Given the description of an element on the screen output the (x, y) to click on. 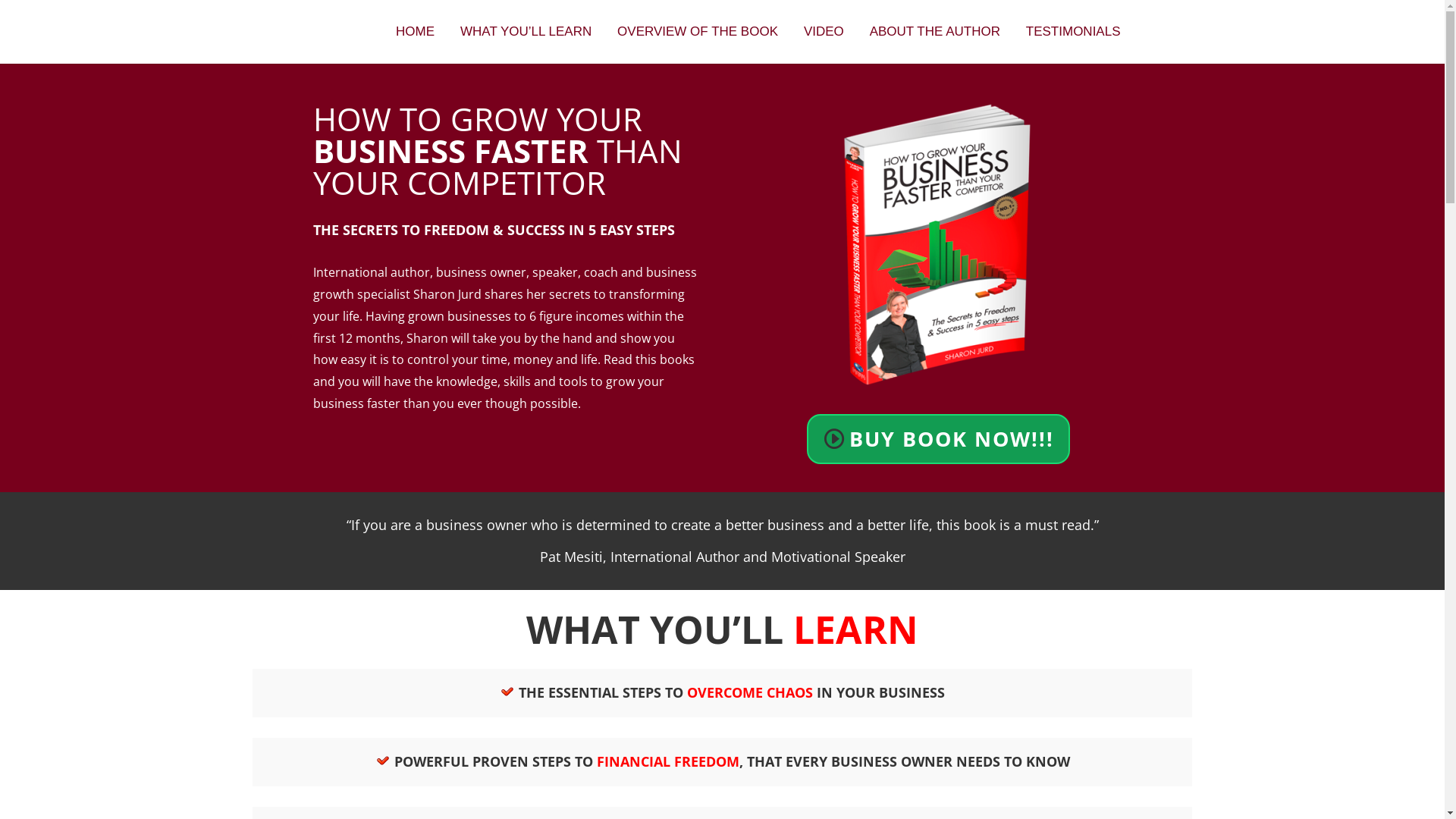
HOW TO GROW YOUR BUSINESS FASTER THAN YOUR COMPETITOR Element type: hover (937, 247)
VIDEO Element type: text (823, 31)
OVERVIEW OF THE BOOK Element type: text (697, 31)
BUY BOOK NOW!!! Element type: text (938, 439)
HOME Element type: text (414, 31)
TESTIMONIALS Element type: text (1073, 31)
ABOUT THE AUTHOR Element type: text (934, 31)
